Given the description of an element on the screen output the (x, y) to click on. 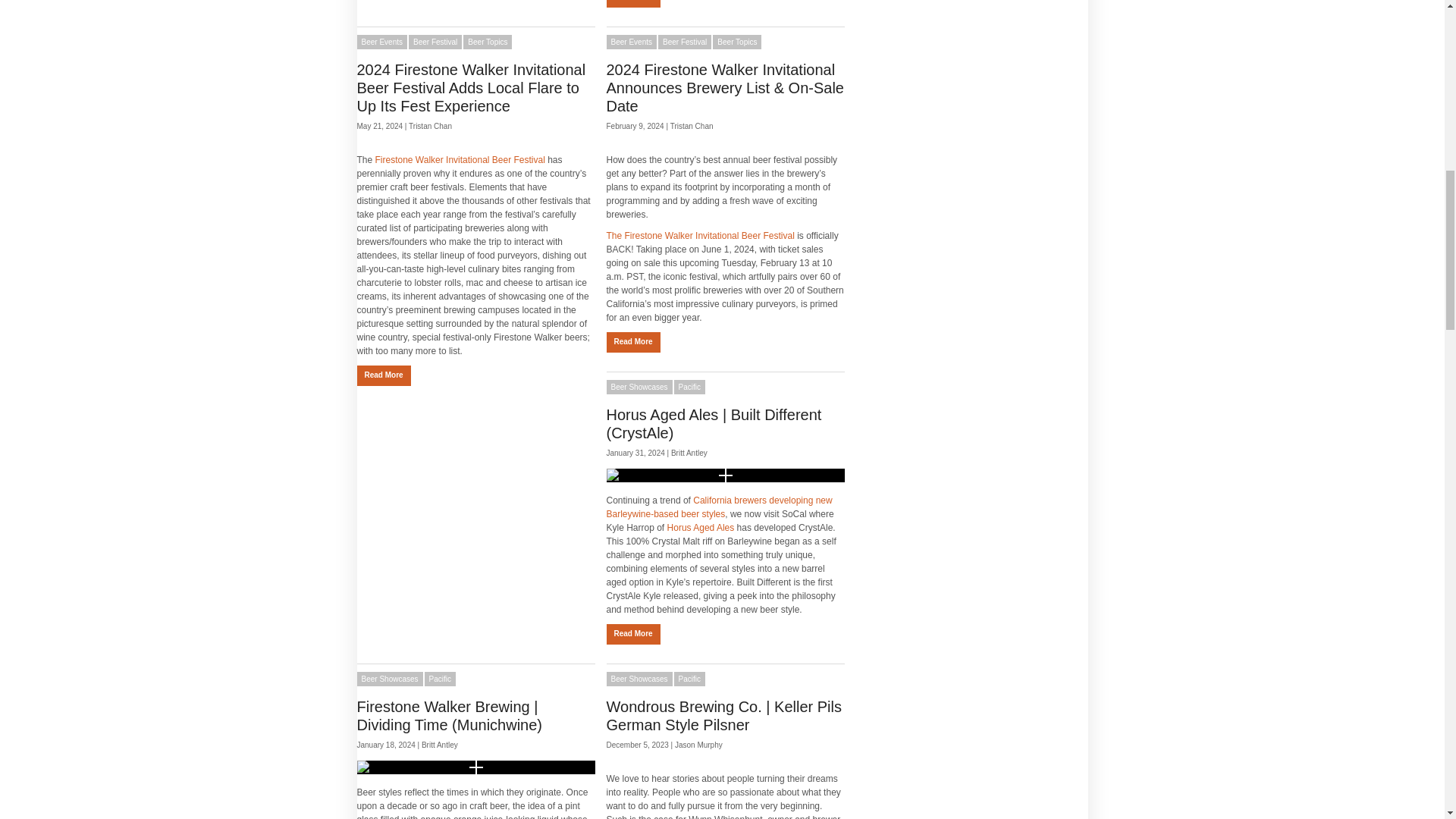
Posts by Tristan Chan (691, 126)
Posts by Britt Antley (689, 452)
Posts by Tristan Chan (430, 126)
